Given the description of an element on the screen output the (x, y) to click on. 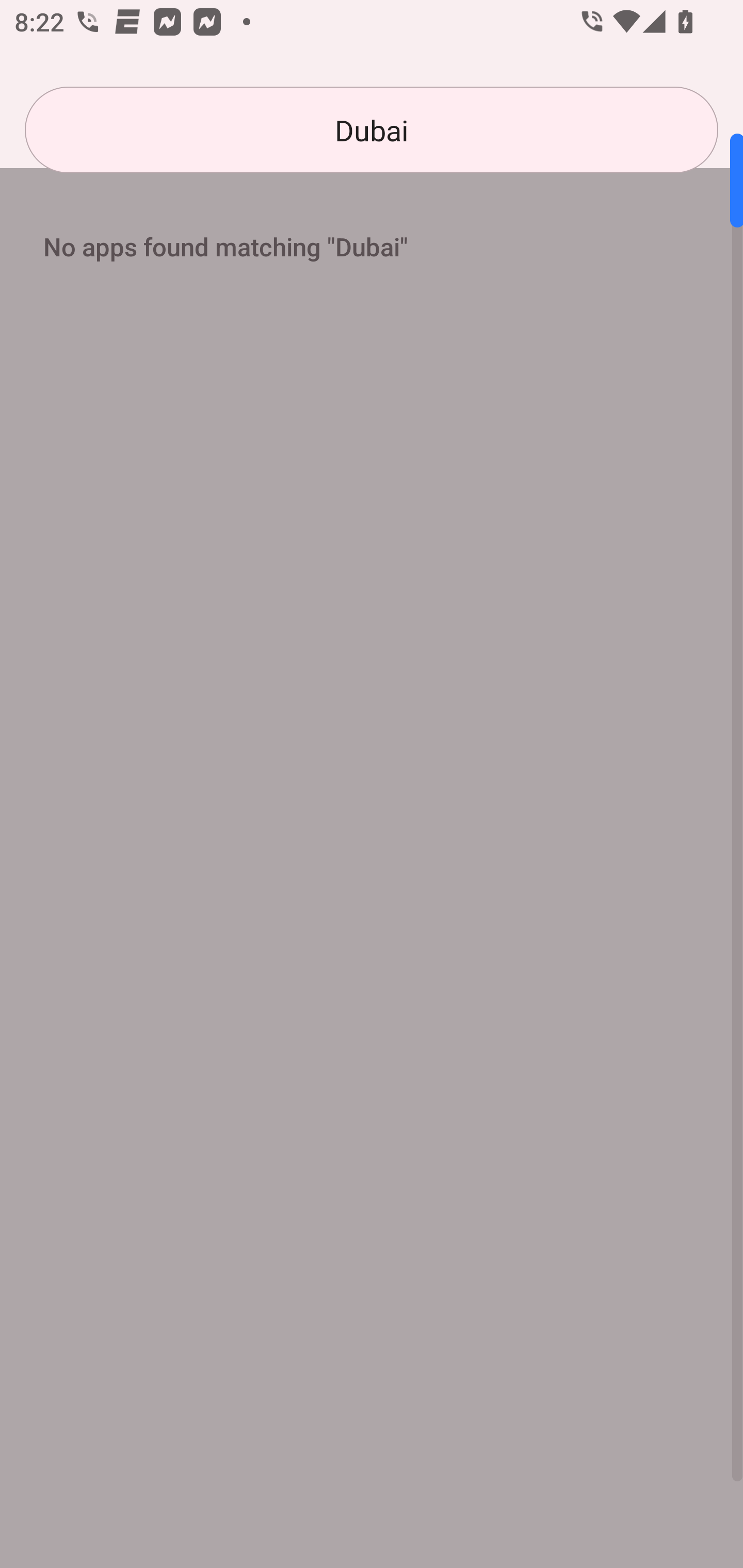
Dubai (371, 130)
